Given the description of an element on the screen output the (x, y) to click on. 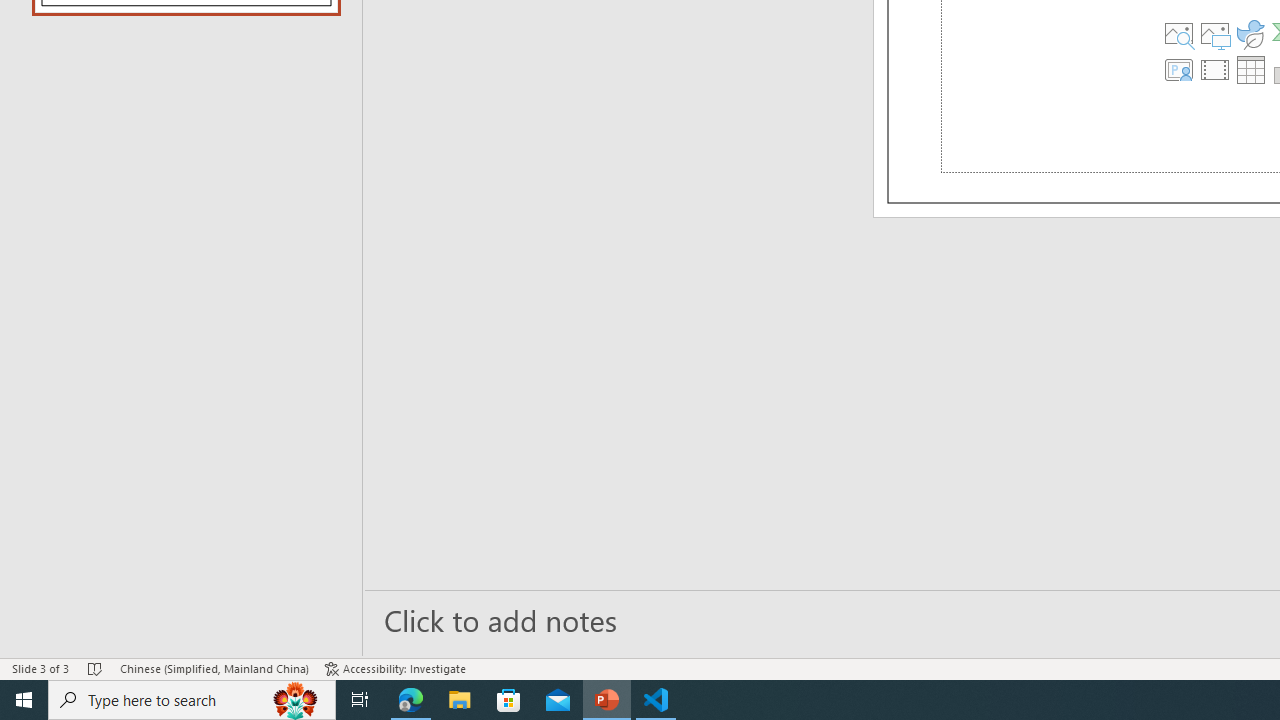
Insert Table (1249, 68)
Stock Images (1178, 32)
Insert an Icon (1249, 32)
Insert Video (1214, 68)
Insert Cameo (1178, 68)
